Given the description of an element on the screen output the (x, y) to click on. 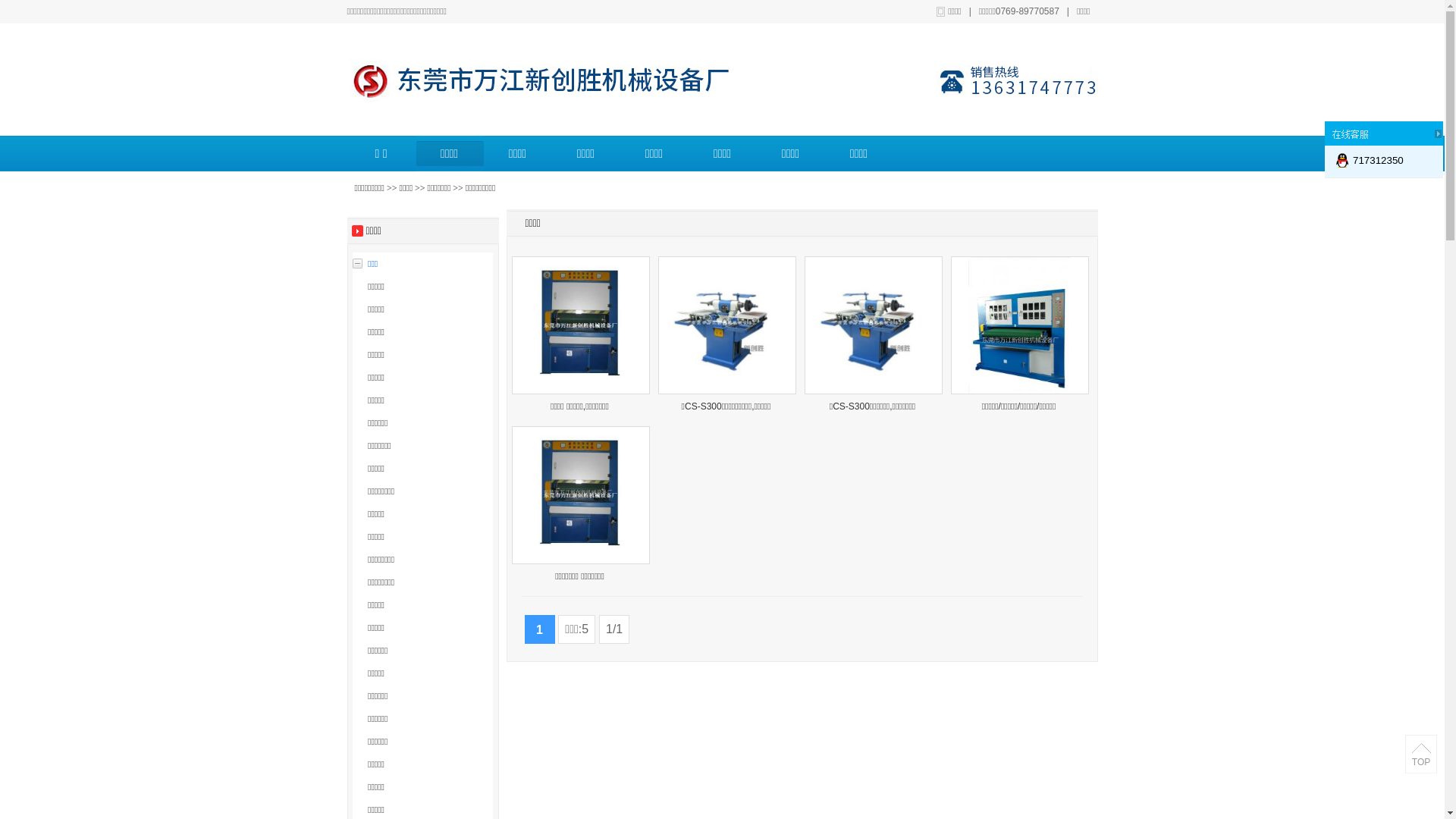
TOP Element type: text (1420, 761)
TOP Element type: text (1420, 754)
